Given the description of an element on the screen output the (x, y) to click on. 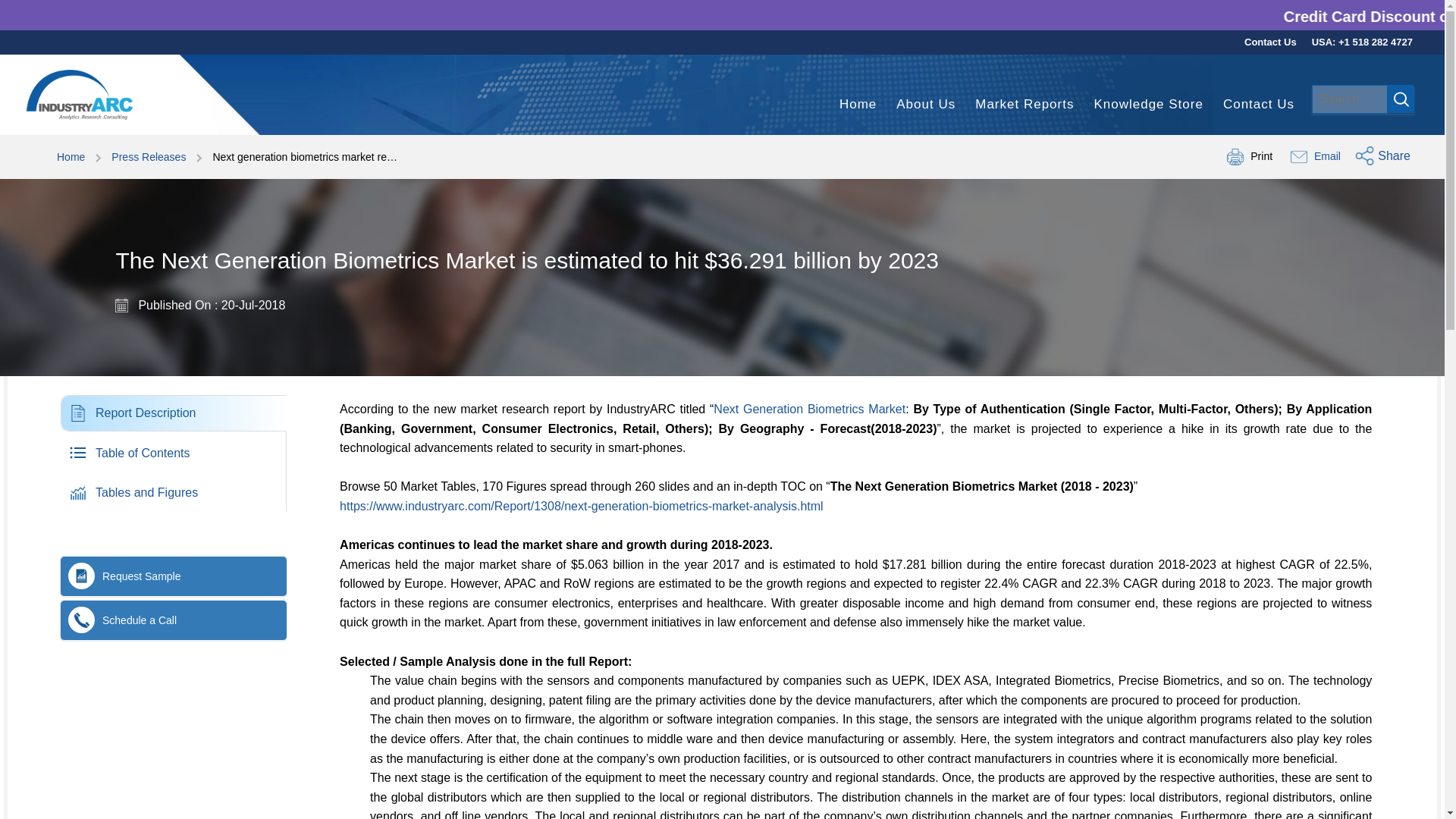
Market Reports (1024, 104)
Home (158, 452)
Contact Us (857, 104)
About Us (1270, 42)
